Given the description of an element on the screen output the (x, y) to click on. 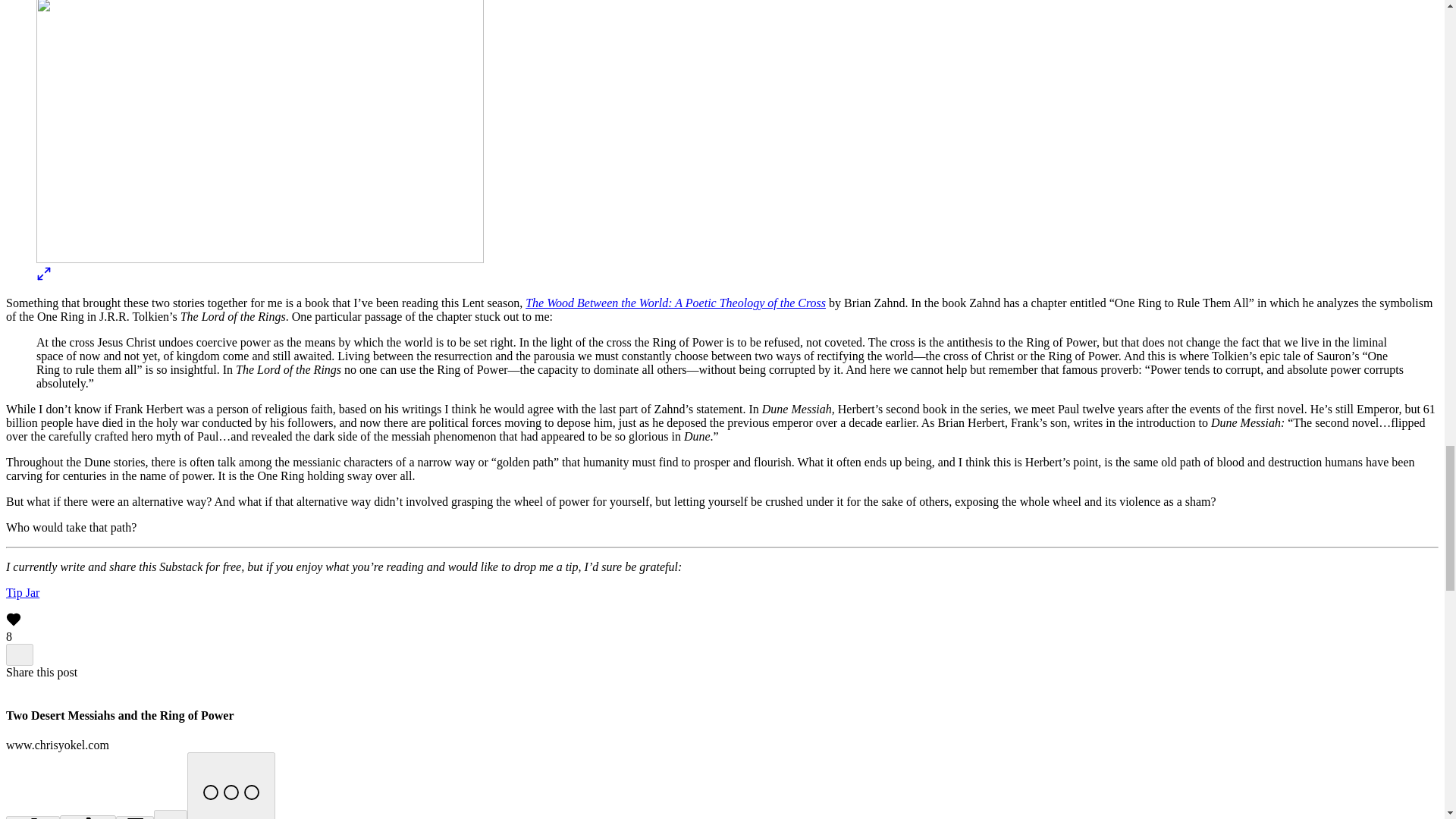
The Wood Between the World: A Poetic Theology of the Cross (675, 302)
Note (170, 814)
Copy link (32, 817)
Tip Jar (22, 592)
Email (134, 817)
Facebook (87, 816)
